Given the description of an element on the screen output the (x, y) to click on. 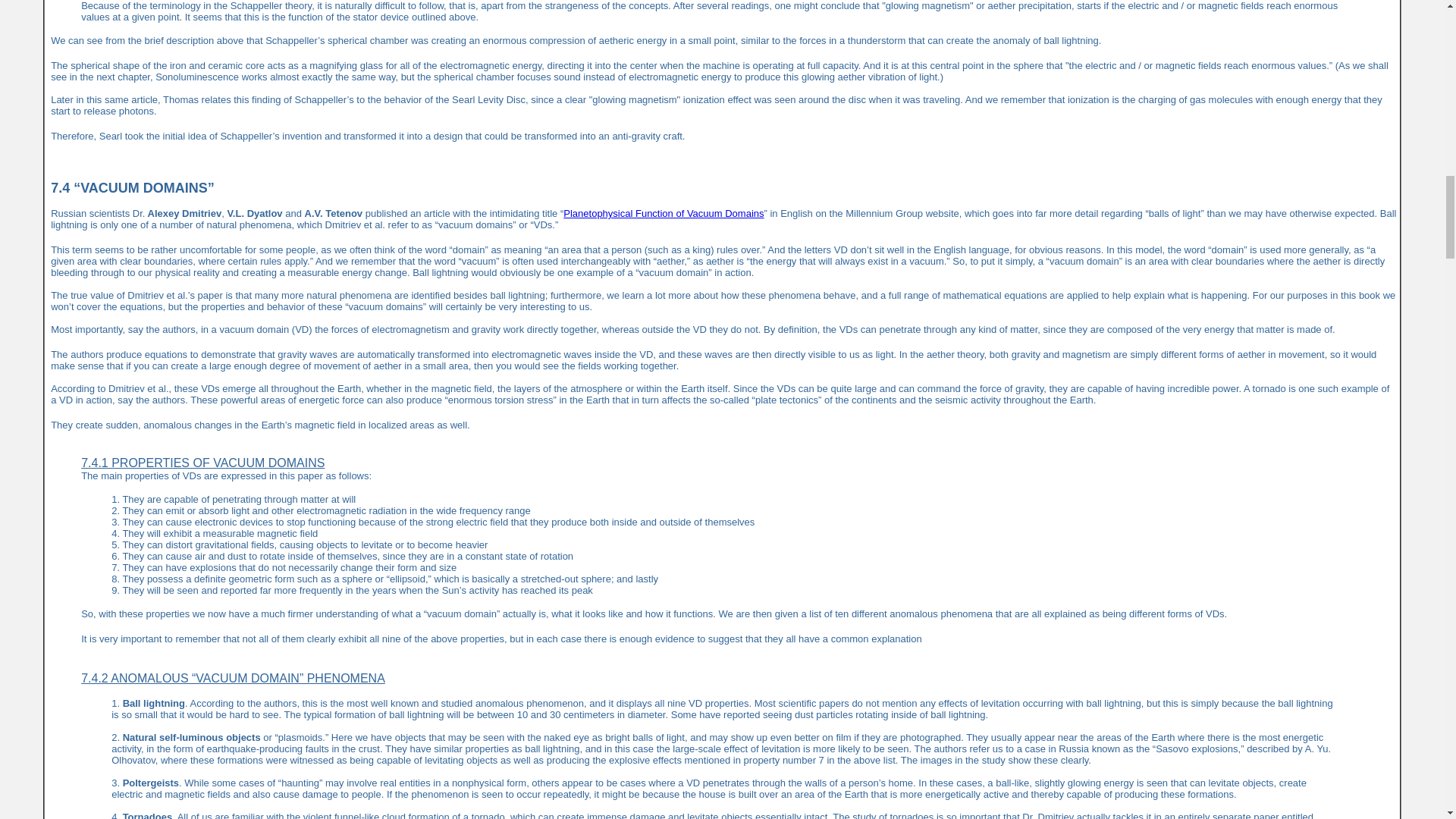
Planetophysical Function of Vacuum Domains (662, 213)
